Given the description of an element on the screen output the (x, y) to click on. 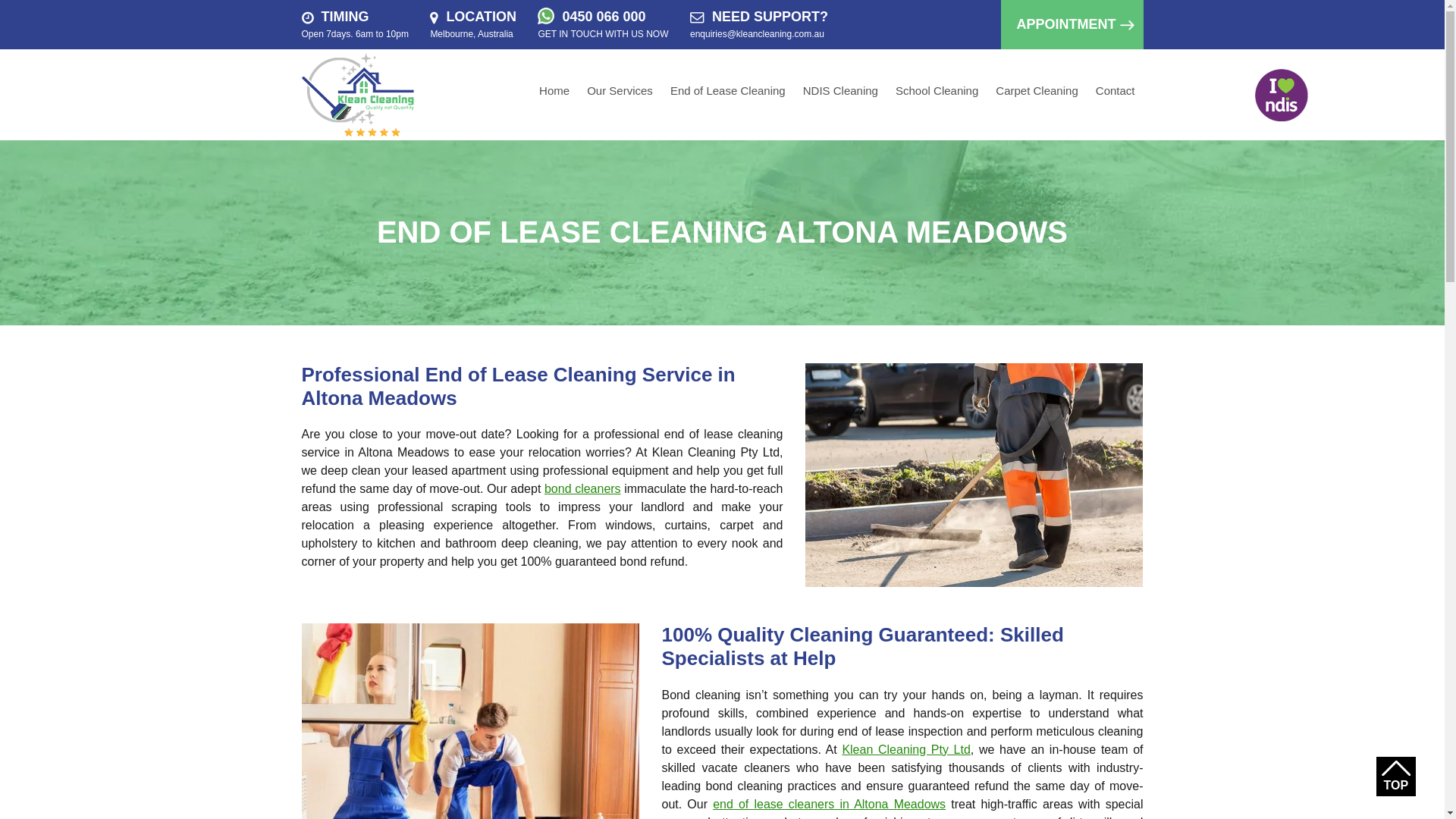
bond cleaners (582, 488)
Carpet Cleaning (1036, 94)
NDIS Cleaning (839, 94)
Klean Cleaning Pty Ltd (905, 748)
0450 066 000 (604, 16)
APPOINTMENT (1071, 23)
Our Services (620, 94)
End of Lease Cleaning (727, 94)
School Cleaning (936, 94)
